Given the description of an element on the screen output the (x, y) to click on. 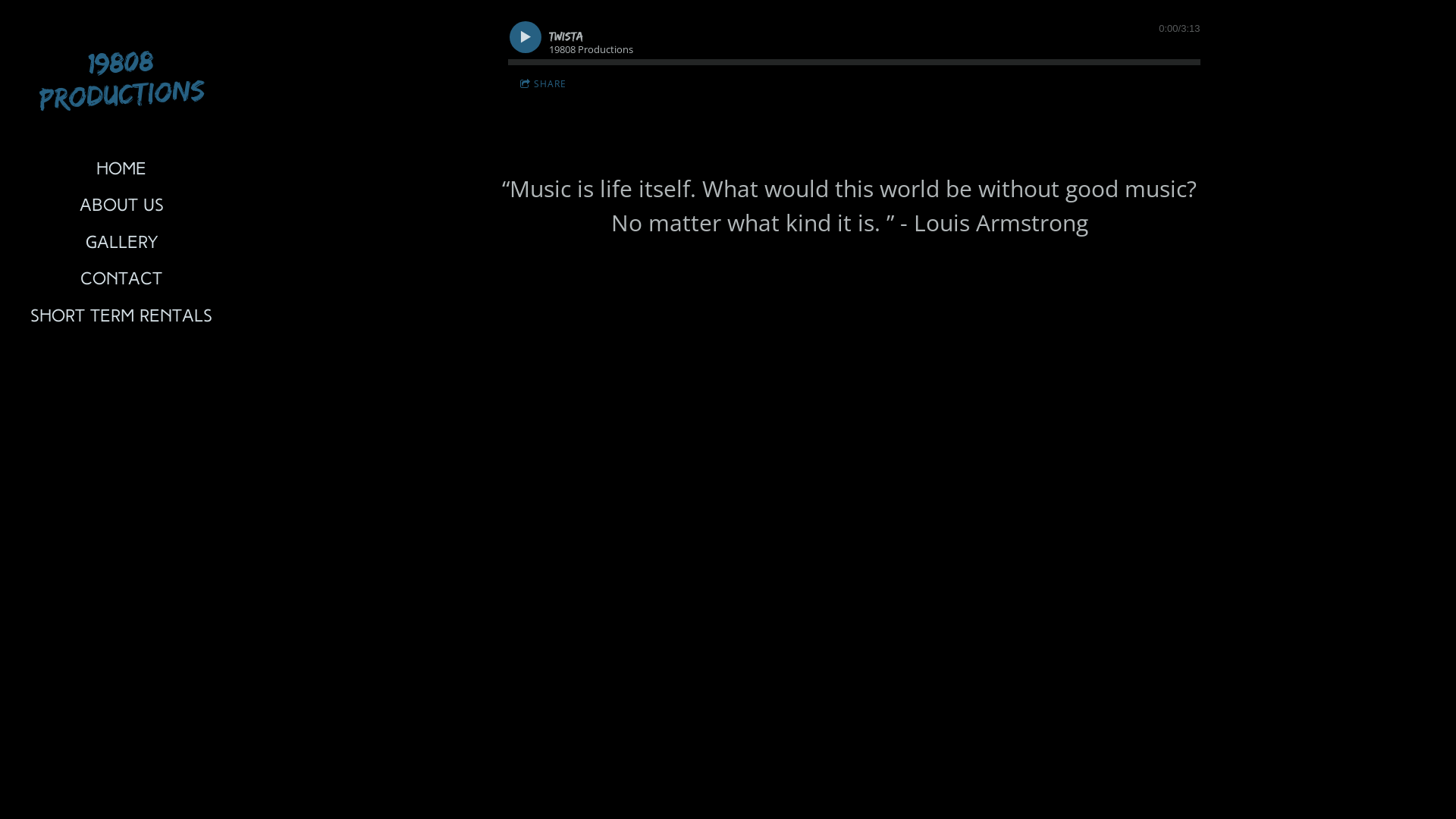
HOME Element type: text (121, 170)
Play Element type: hover (524, 36)
ABOUT US Element type: text (120, 206)
SHARE Element type: text (543, 83)
CONTACT Element type: text (121, 280)
19808 PRODUCTIONS Element type: text (121, 90)
SHORT TERM RENTALS Element type: text (121, 317)
GALLERY Element type: text (120, 243)
